Given the description of an element on the screen output the (x, y) to click on. 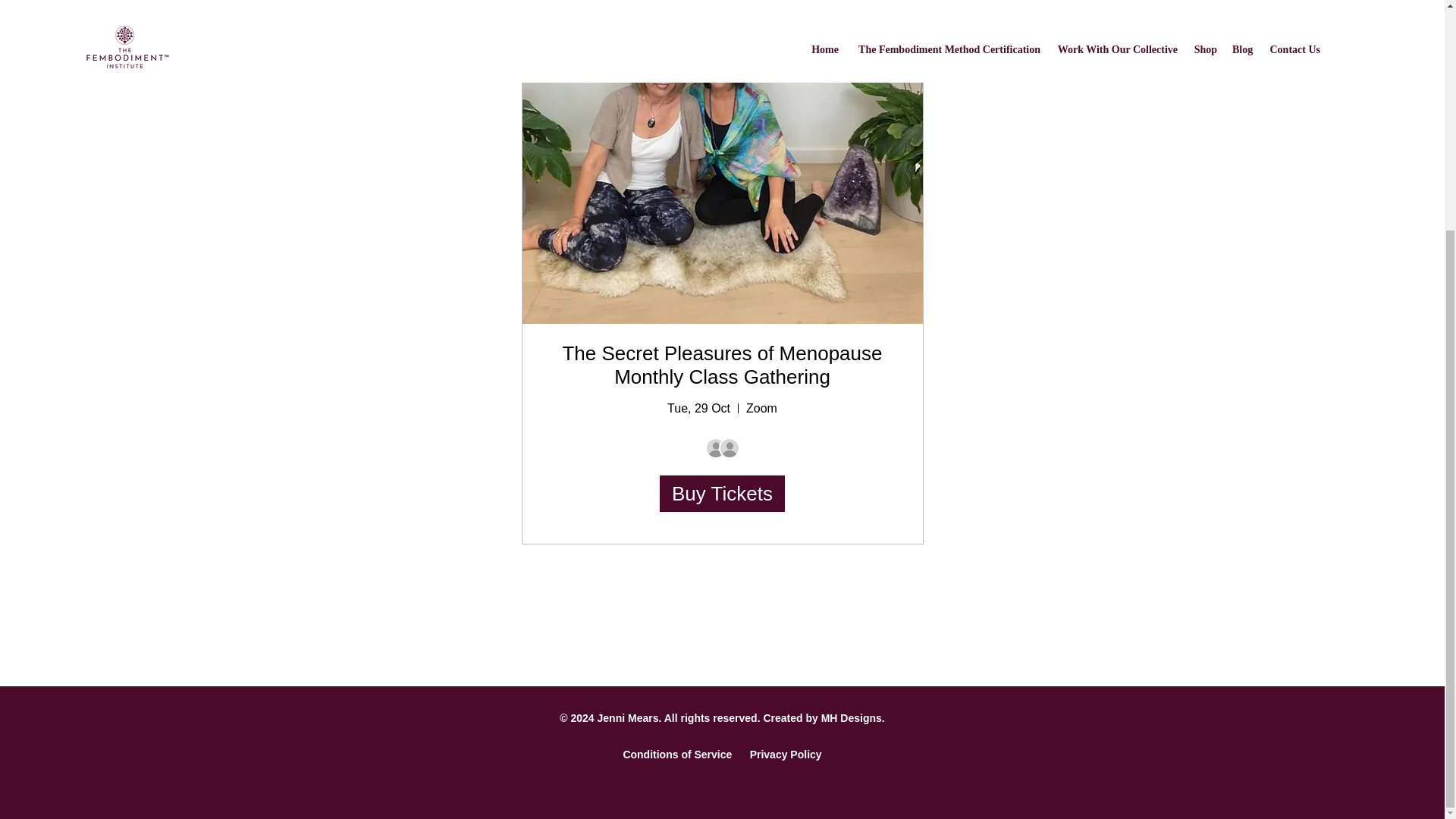
Buy Tickets (721, 493)
Conditions of Service  (679, 754)
Privacy Policy (784, 754)
The Secret Pleasures of Menopause Monthly Class Gathering (722, 365)
